Given the description of an element on the screen output the (x, y) to click on. 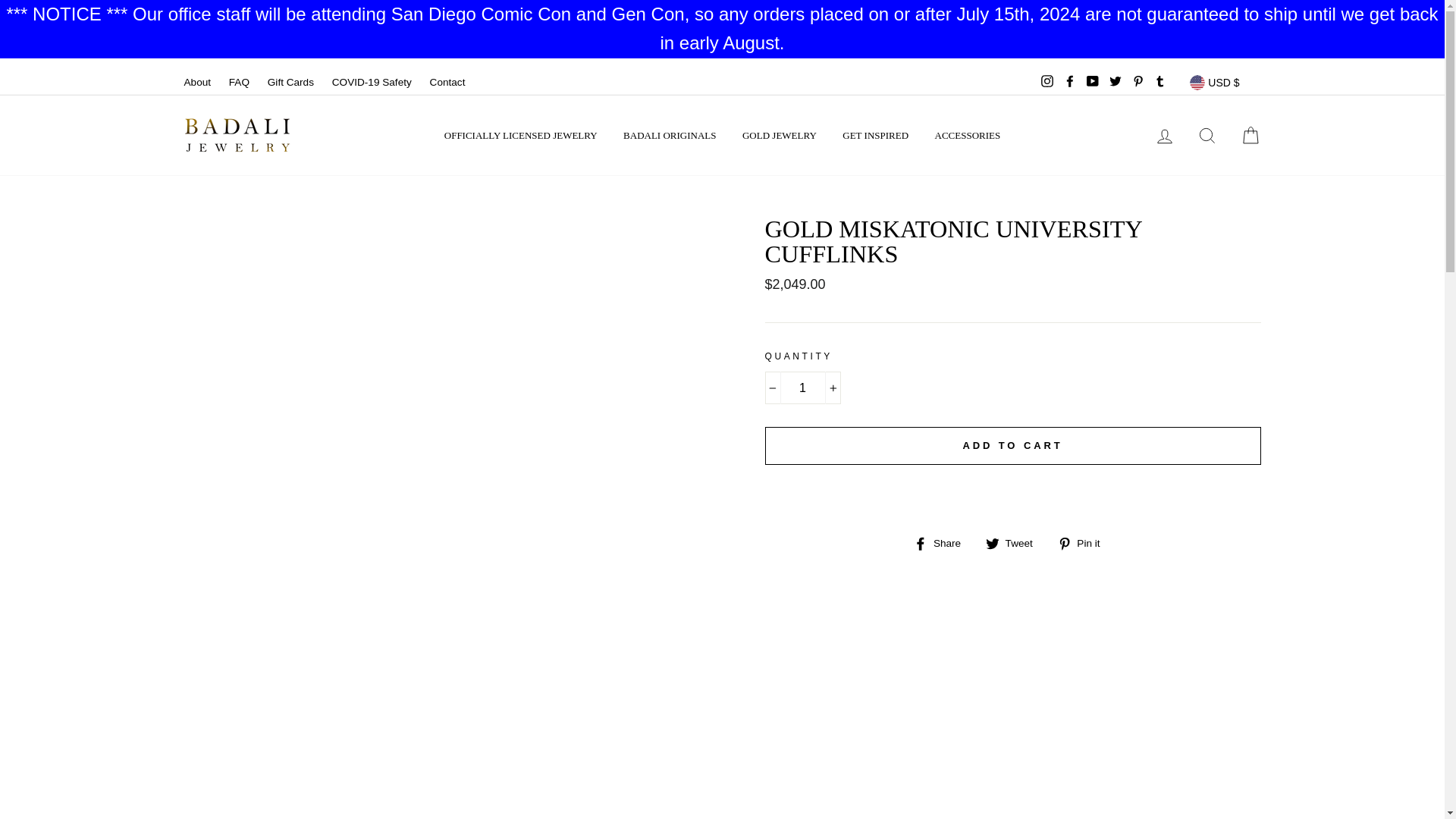
Tweet on Twitter (1014, 542)
BJS Inc.  on Pinterest (1138, 82)
Pin on Pinterest (1085, 542)
BJS Inc.  on Twitter (1115, 82)
Share on Facebook (943, 542)
1 (802, 387)
BJS Inc.  on YouTube (1092, 82)
BJS Inc.  on Facebook (1069, 82)
BJS Inc.  on Instagram (1046, 82)
BJS Inc.  on Tumblr (1160, 82)
